Given the description of an element on the screen output the (x, y) to click on. 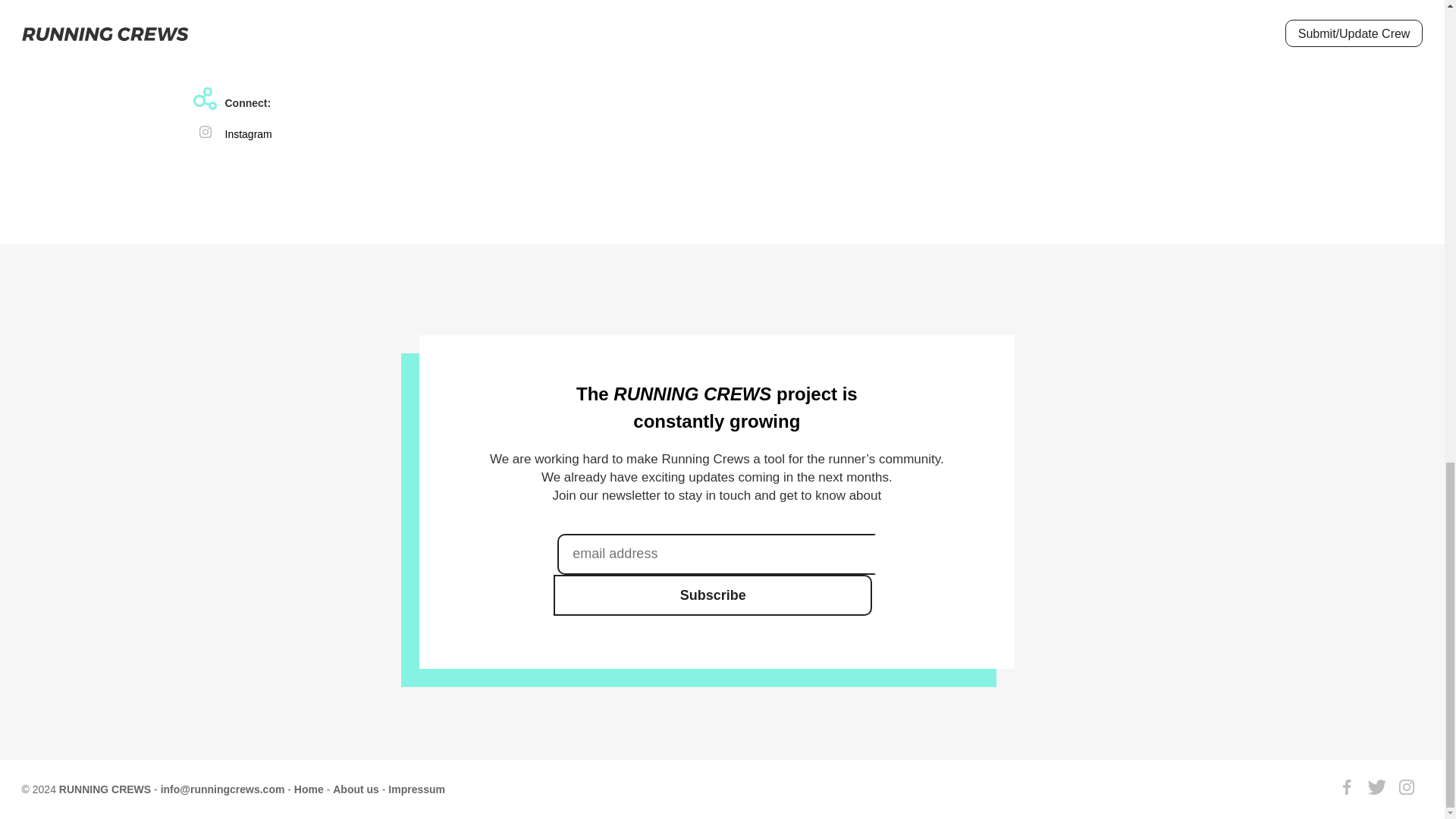
Subscribe (712, 594)
Home (308, 788)
Min-woo (244, 39)
Instagram (247, 133)
Subscribe (712, 594)
Impressum (416, 788)
About us (355, 788)
